Given the description of an element on the screen output the (x, y) to click on. 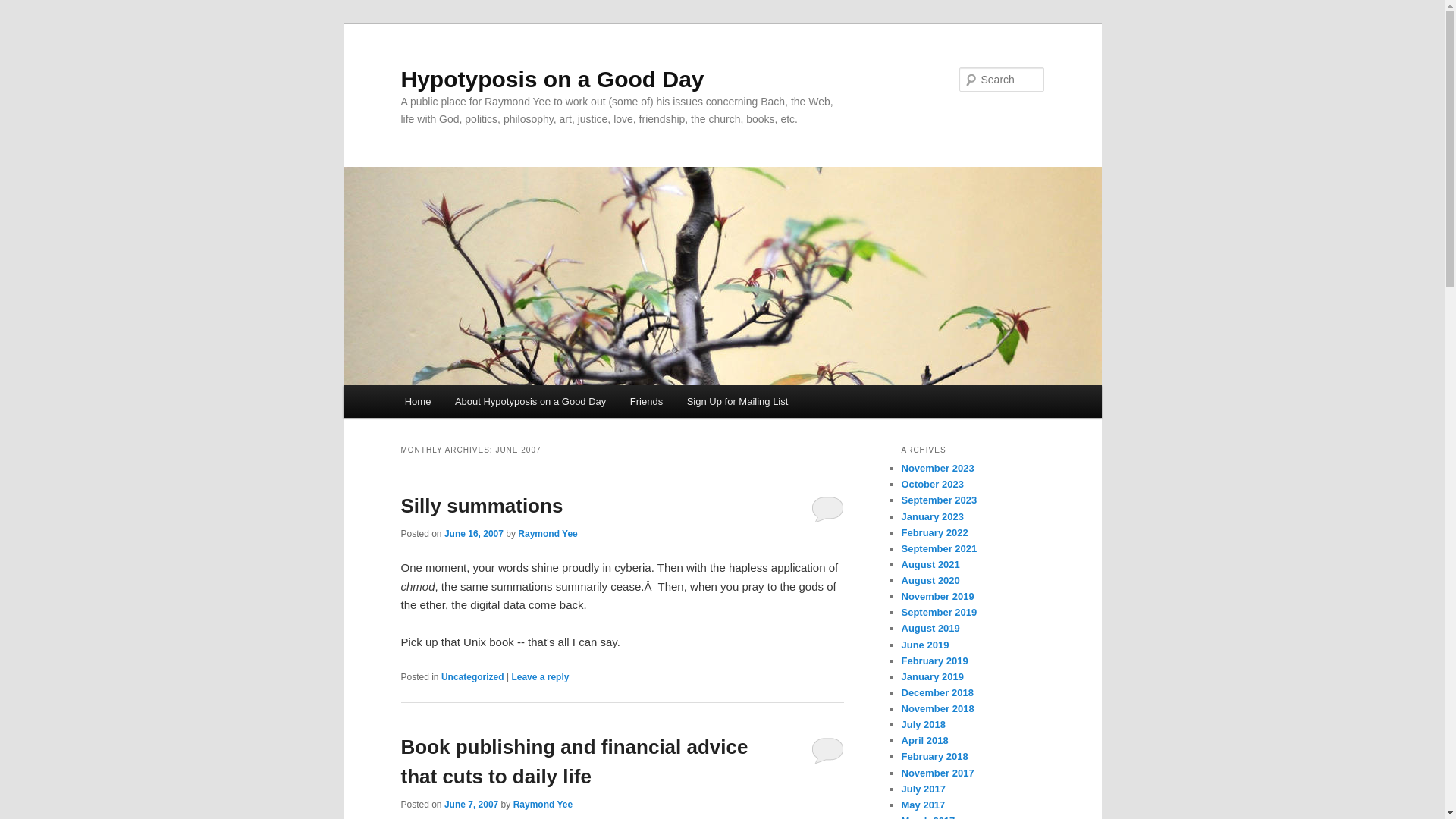
September 2021 (938, 548)
3:10 pm (470, 804)
August 2020 (930, 580)
Search (24, 8)
Silly summations (481, 505)
June 7, 2007 (470, 804)
Uncategorized (472, 676)
September 2023 (938, 500)
November 2023 (937, 468)
Sign Up for Mailing List (737, 400)
